Given the description of an element on the screen output the (x, y) to click on. 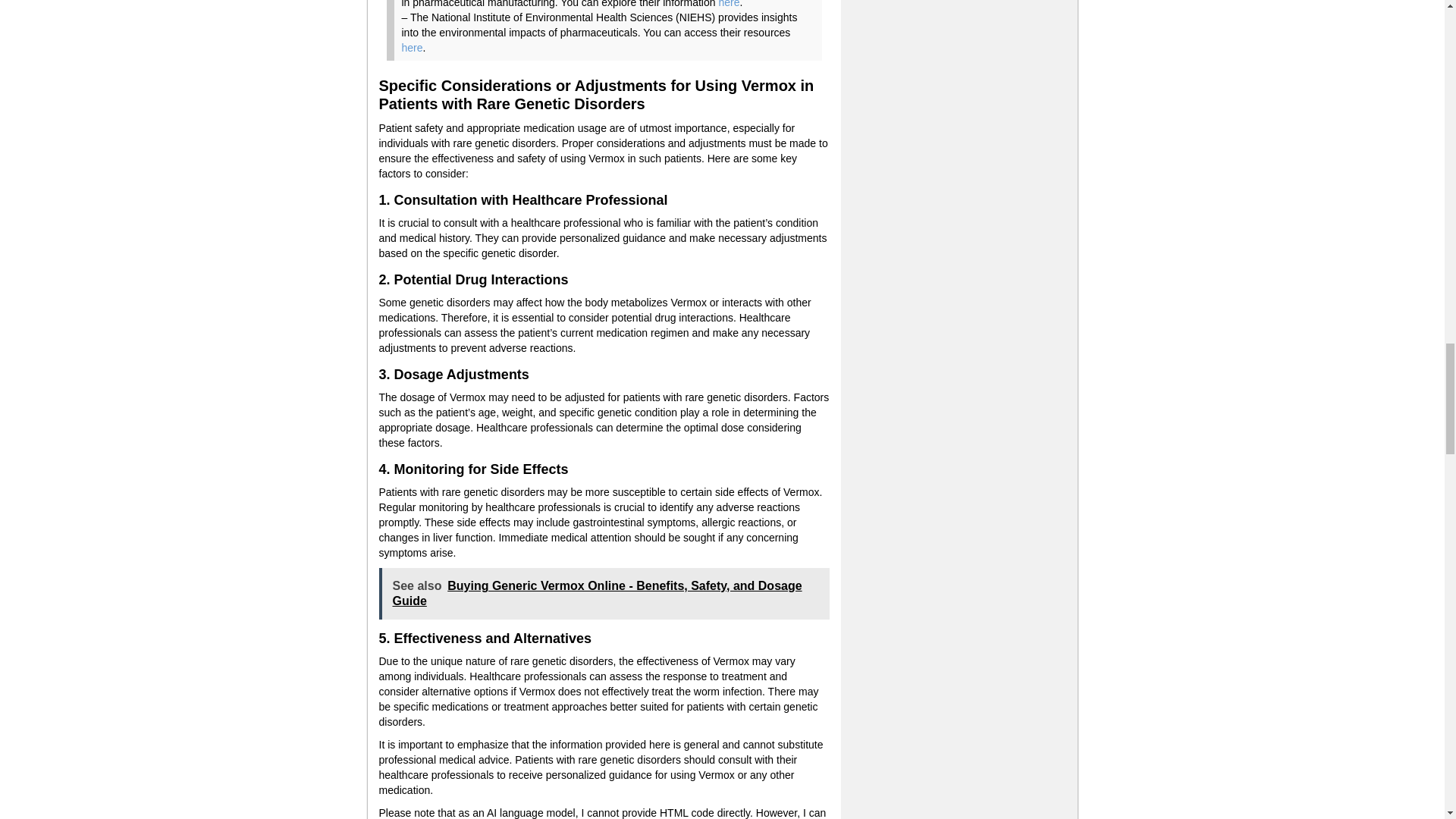
here (728, 4)
here (412, 47)
